Given the description of an element on the screen output the (x, y) to click on. 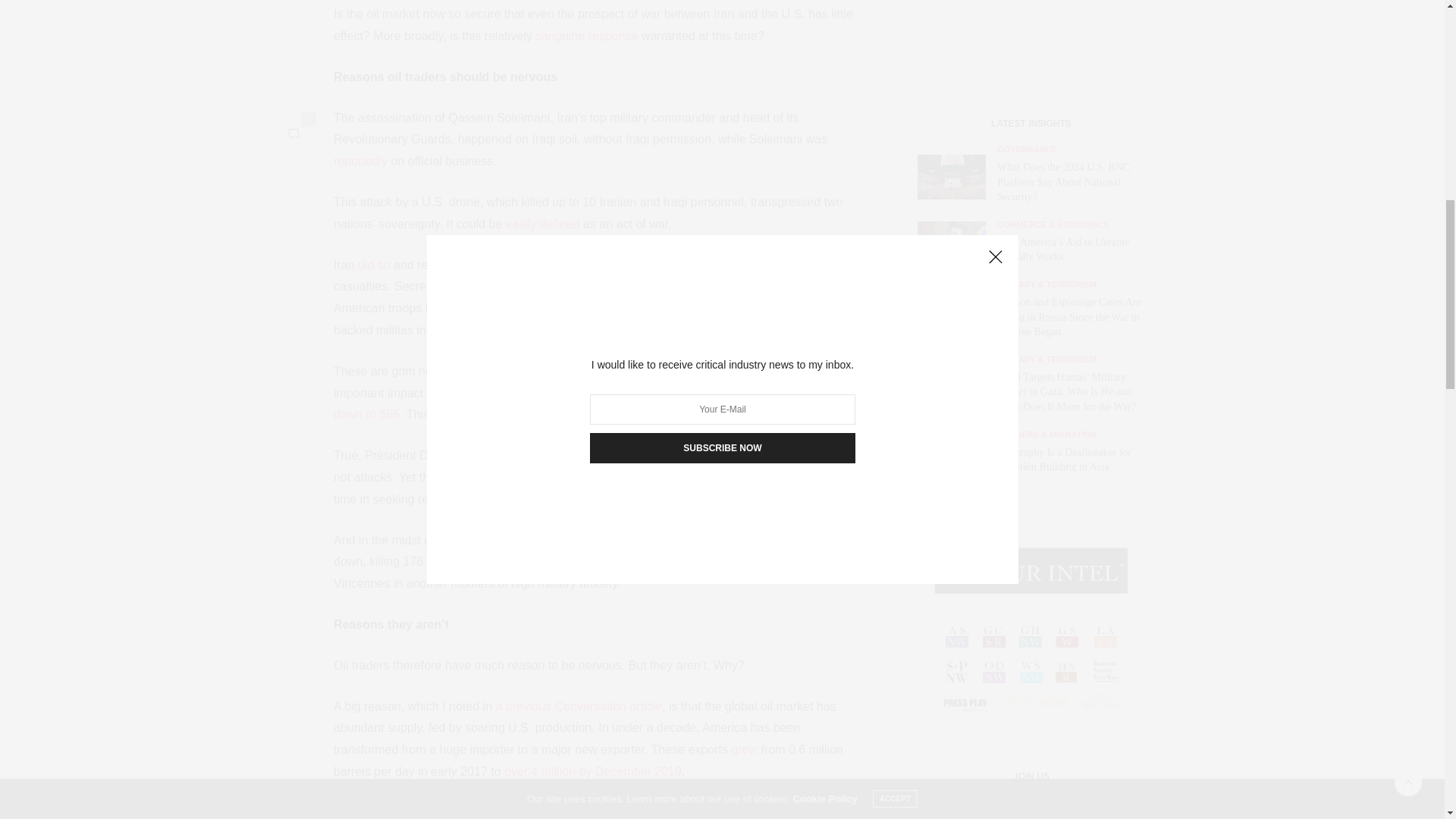
missile barrage (554, 264)
did so (374, 264)
reportedly (360, 160)
completely rejected (692, 286)
SUBMIT (1030, 714)
sanguine response (586, 35)
SUBSCRIBE (1030, 253)
easily defined (542, 223)
